Given the description of an element on the screen output the (x, y) to click on. 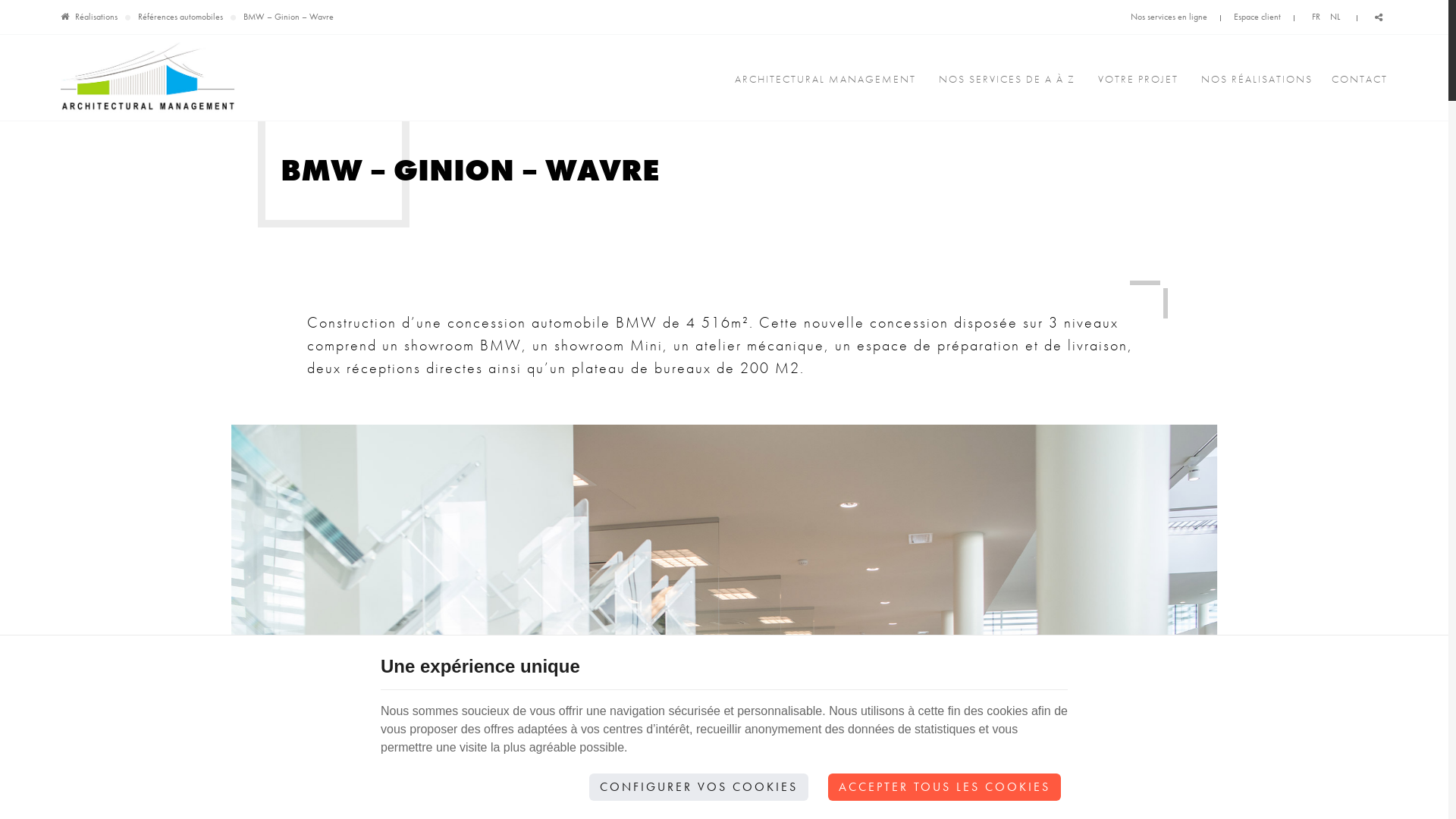
FR Element type: text (1315, 16)
Nos services en ligne Element type: text (1168, 16)
VOTRE PROJET Element type: text (1137, 78)
Espace client Element type: text (1256, 16)
CONTACT Element type: text (1355, 78)
CONFIGURER VOS COOKIES Element type: text (698, 786)
ACCEPTER TOUS LES COOKIES Element type: text (944, 786)
NL Element type: text (1334, 16)
Architectural Management Element type: hover (147, 77)
ARCHITECTURAL MANAGEMENT Element type: text (825, 78)
